Given the description of an element on the screen output the (x, y) to click on. 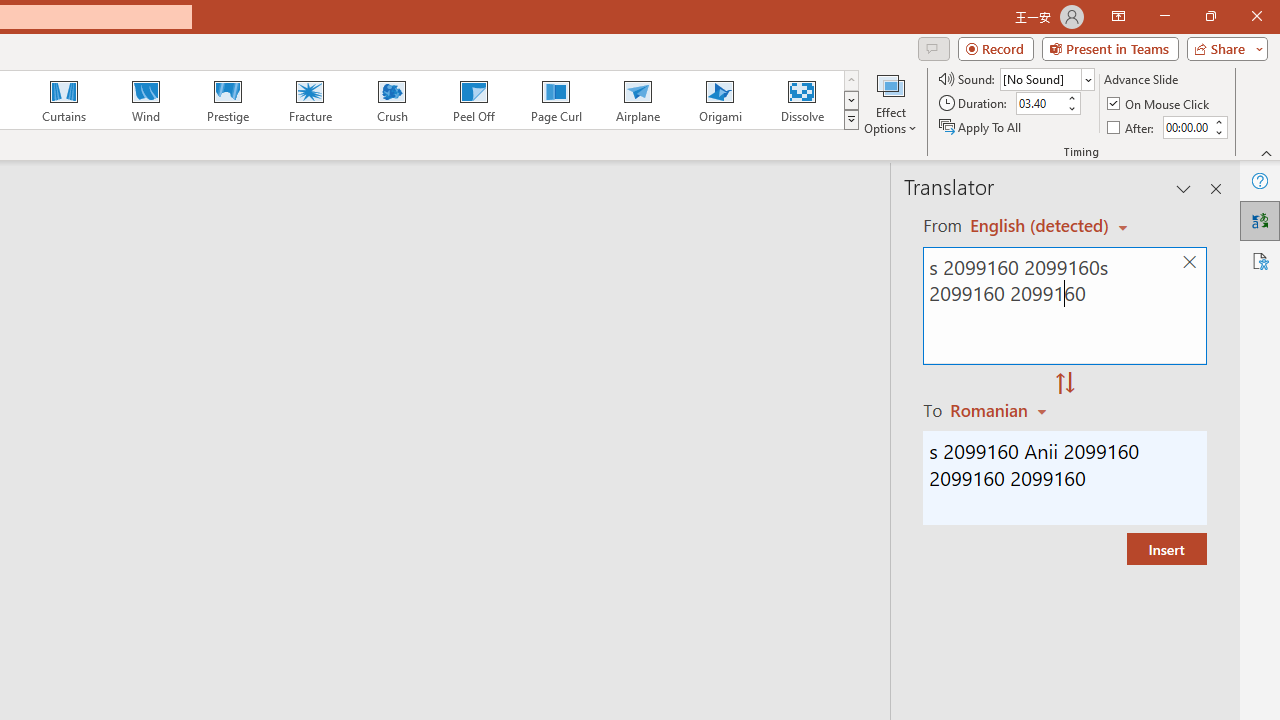
Less (1218, 132)
Swap "from" and "to" languages. (1065, 383)
